Given the description of an element on the screen output the (x, y) to click on. 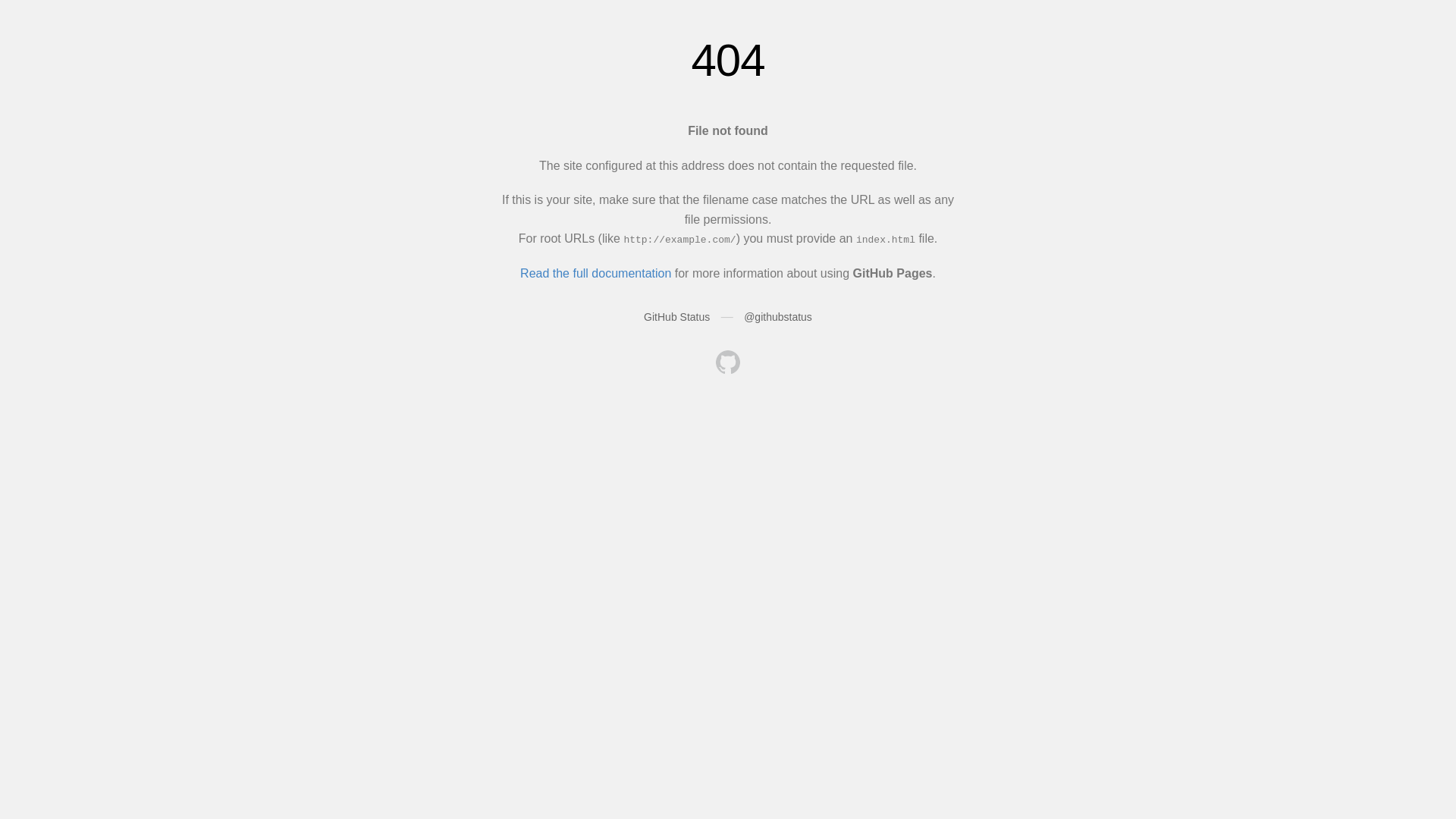
GitHub Status Element type: text (676, 316)
@githubstatus Element type: text (777, 316)
Read the full documentation Element type: text (595, 272)
